Given the description of an element on the screen output the (x, y) to click on. 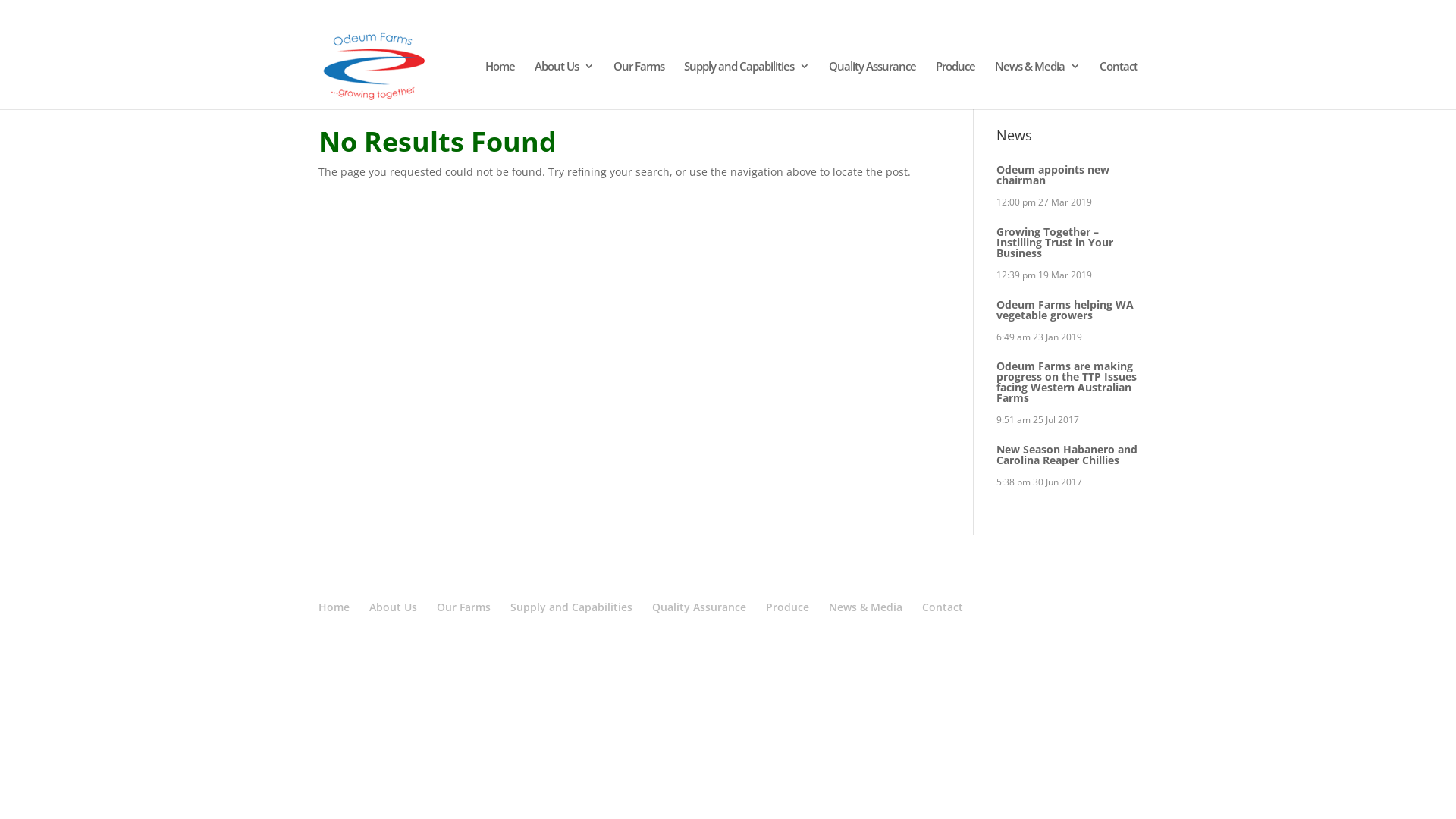
Our Farms Element type: text (463, 606)
About Us Element type: text (563, 84)
About Us Element type: text (393, 606)
New Season Habanero and Carolina Reaper Chillies Element type: text (1066, 454)
Odeum Farms helping WA vegetable growers Element type: text (1064, 309)
Supply and Capabilities Element type: text (746, 84)
Quality Assurance Element type: text (872, 84)
Produce Element type: text (787, 606)
Contact Element type: text (942, 606)
Our Farms Element type: text (638, 84)
Contact Element type: text (1118, 84)
Supply and Capabilities Element type: text (571, 606)
Home Element type: text (333, 606)
Home Element type: text (499, 84)
Quality Assurance Element type: text (699, 606)
Odeum appoints new chairman Element type: text (1052, 174)
News & Media Element type: text (1036, 84)
News & Media Element type: text (865, 606)
Produce Element type: text (955, 84)
